Given the description of an element on the screen output the (x, y) to click on. 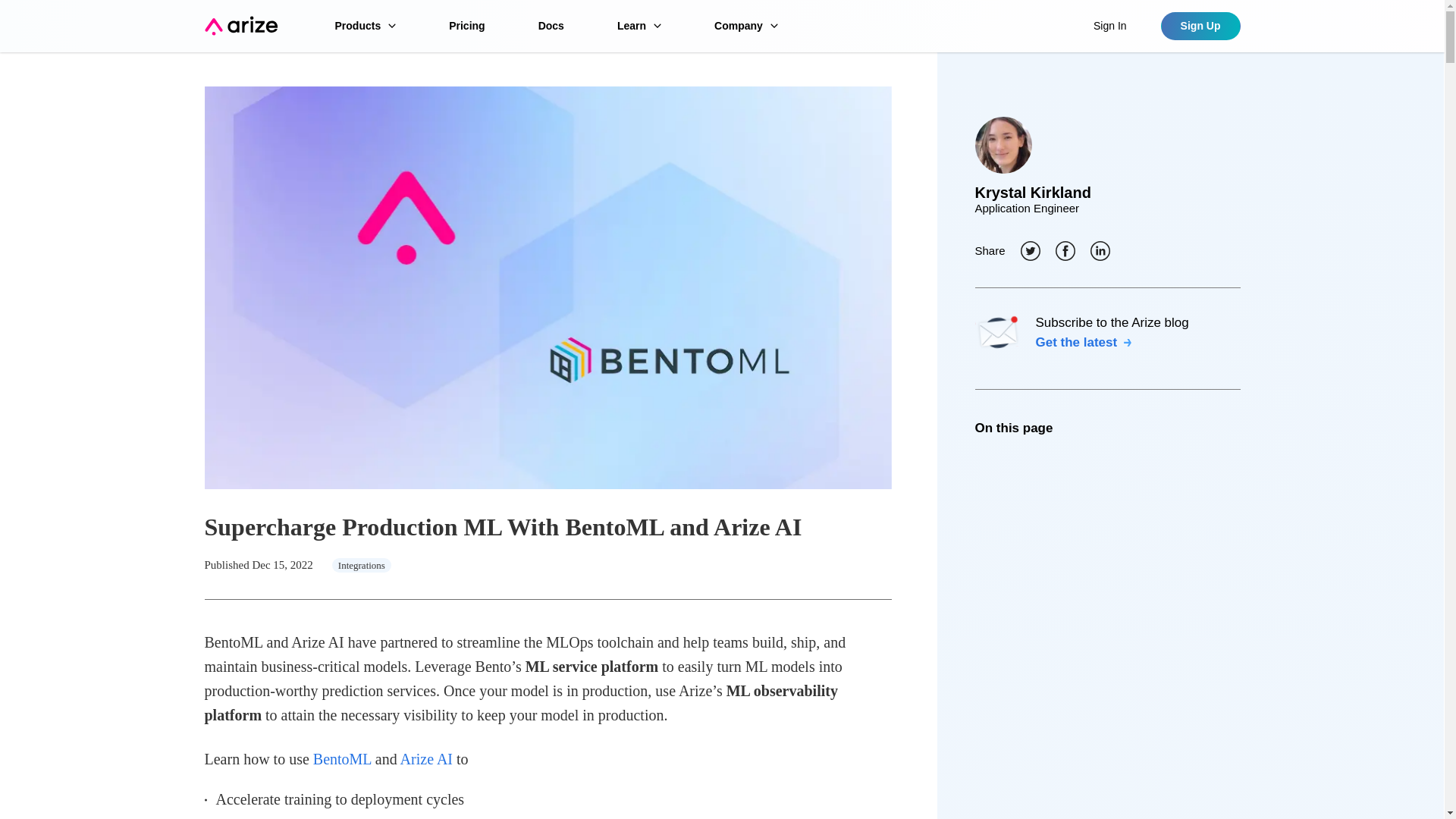
Sign Up (1200, 26)
Products (364, 25)
krystal headshot (1003, 145)
Learn (638, 25)
Get the latest (1084, 341)
Docs (551, 25)
Krystal Kirkland (1107, 192)
Integrations (361, 564)
Pricing (466, 25)
Sign In (1109, 25)
